Given the description of an element on the screen output the (x, y) to click on. 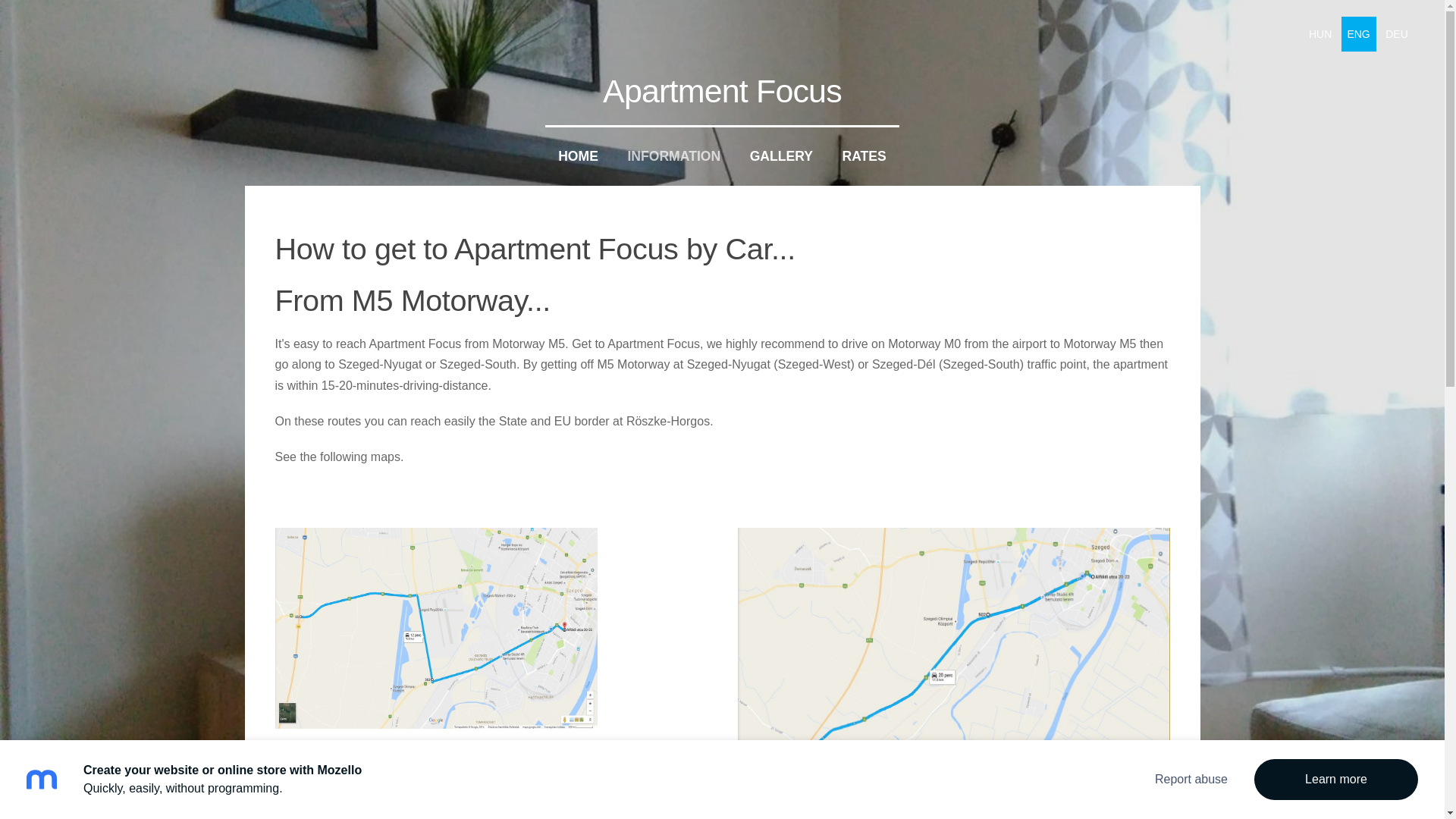
DEU (1395, 33)
Learn more (1335, 779)
INFORMATION (672, 156)
HOME (577, 156)
HUN (1320, 33)
RATES (863, 156)
Report abuse (1190, 779)
Apartment Focus (722, 91)
GALLERY (781, 156)
ENG (1357, 33)
